Given the description of an element on the screen output the (x, y) to click on. 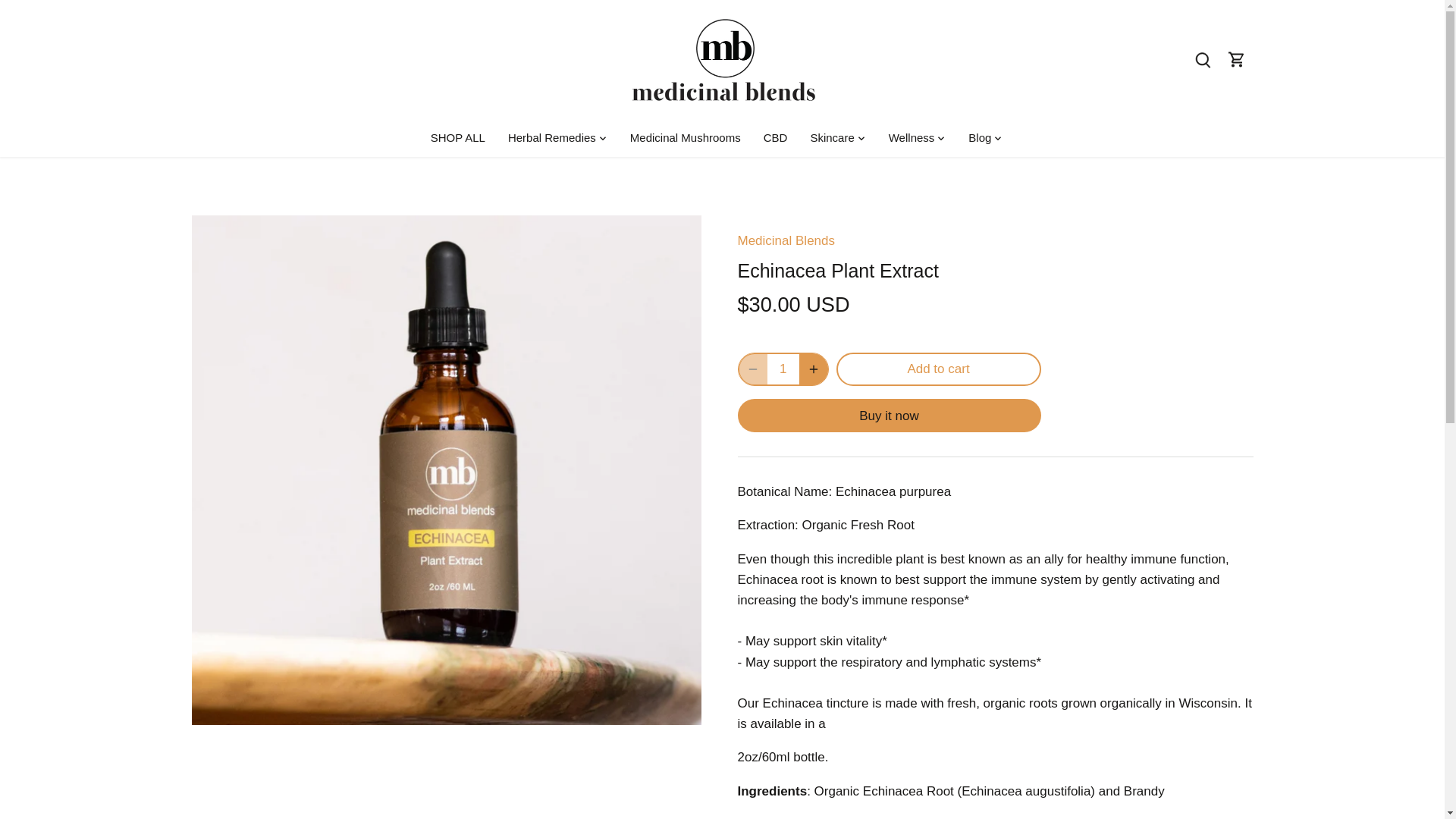
Medicinal Blends (785, 240)
Medicinal Mushrooms (685, 138)
1 (783, 368)
SHOP ALL (463, 138)
Add to cart (938, 368)
Buy it now (888, 415)
Blog (979, 138)
Skincare (830, 138)
Wellness (911, 138)
Herbal Remedies (551, 138)
